Given the description of an element on the screen output the (x, y) to click on. 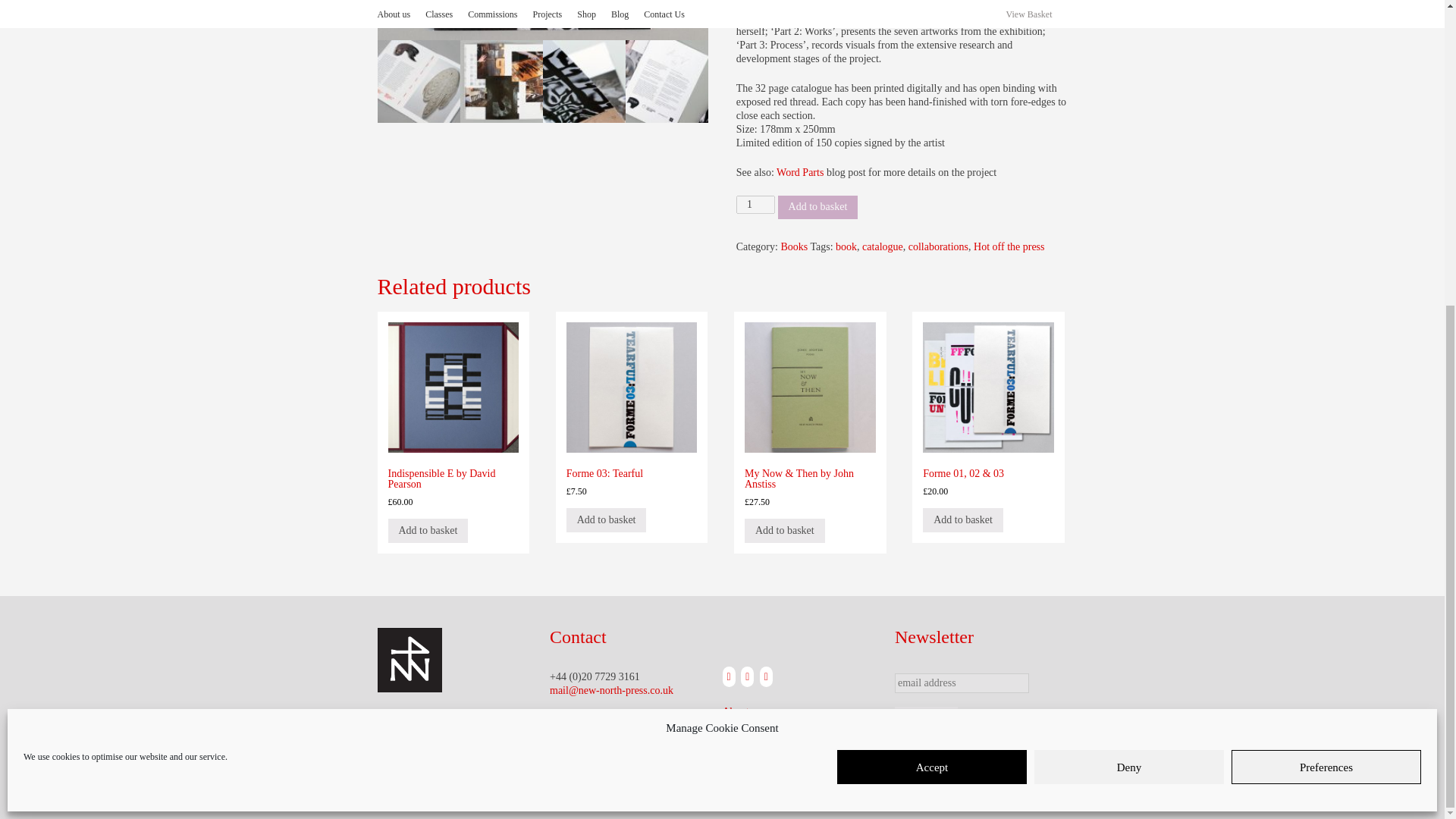
Kate Davis (853, 17)
Word Parts (800, 172)
Preferences (1326, 286)
Deny (1128, 286)
Accept (931, 286)
Isobel Wohl (1007, 4)
Richard Ardagh (971, 17)
1 (755, 204)
Subscribe (926, 718)
